Given the description of an element on the screen output the (x, y) to click on. 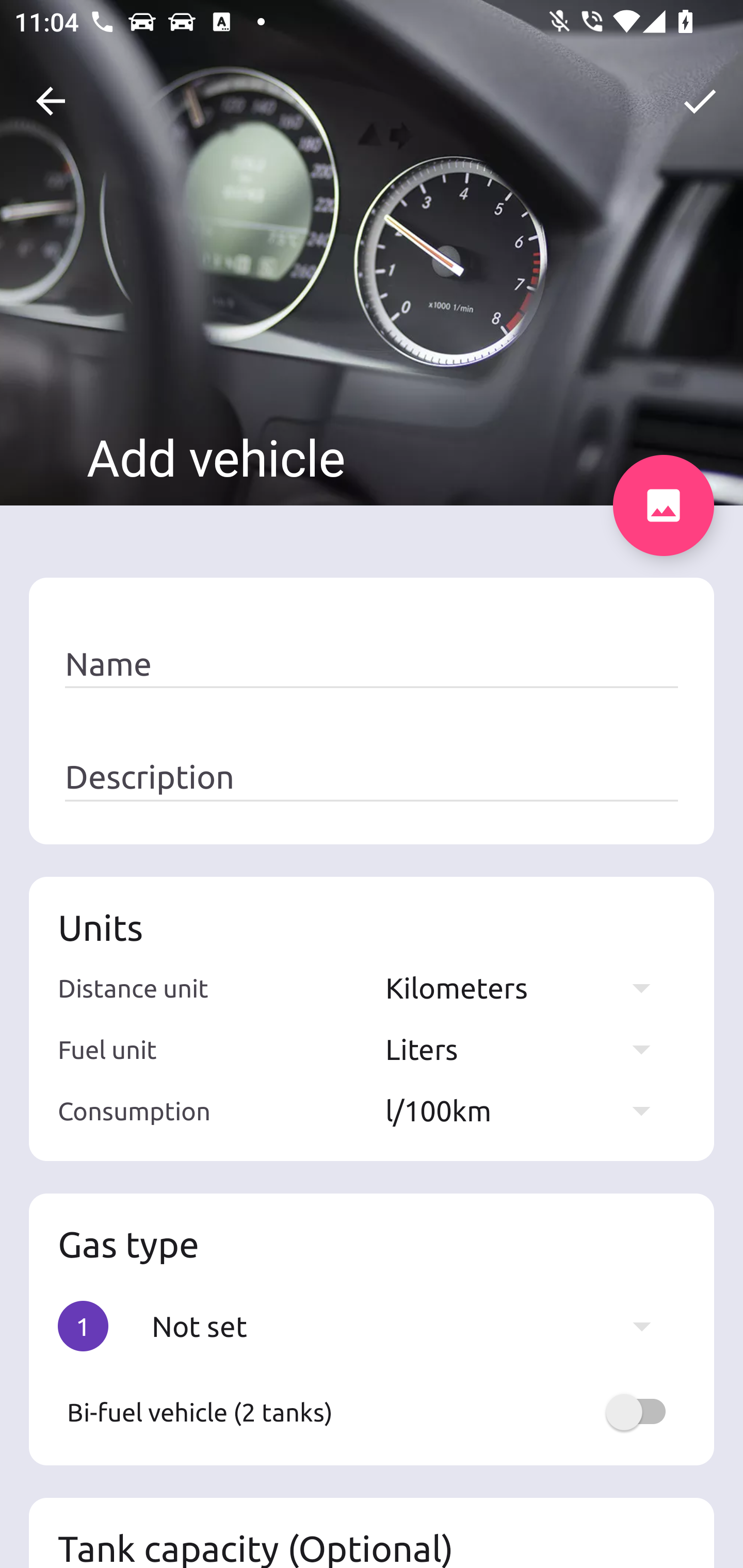
Navigate up (50, 101)
OK (699, 101)
Name (371, 664)
Description (371, 777)
Kilometers (527, 987)
Liters (527, 1048)
l/100km (527, 1110)
Not set (411, 1325)
Bi-fuel vehicle (2 tanks) (371, 1411)
